Given the description of an element on the screen output the (x, y) to click on. 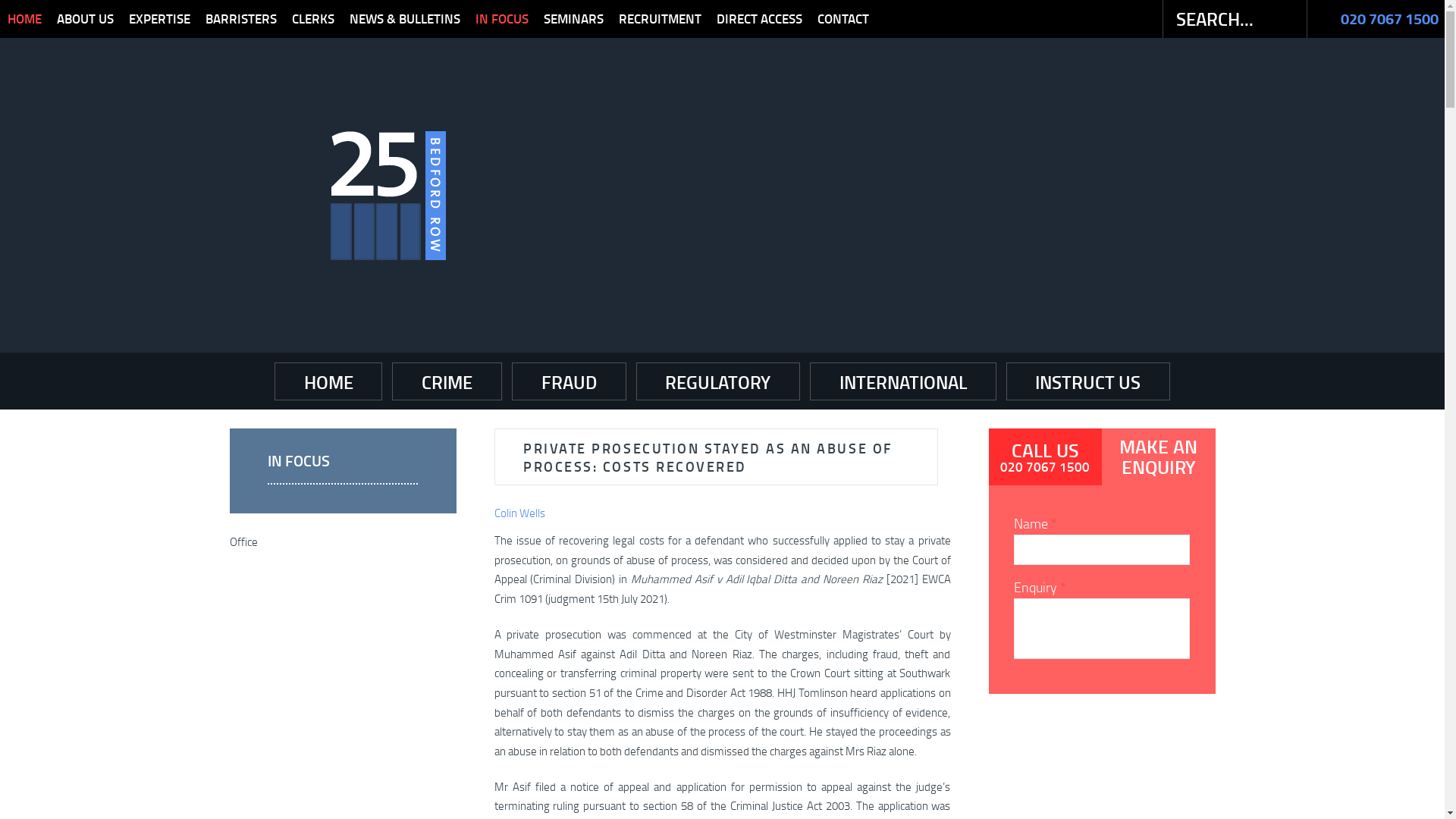
FRAUD Element type: text (568, 381)
ABOUT US Element type: text (85, 18)
MAKE AN ENQUIRY Element type: text (1158, 456)
DIRECT ACCESS Element type: text (759, 18)
REGULATORY Element type: text (717, 381)
Colin Wells Element type: text (519, 512)
EXPERTISE Element type: text (159, 18)
CONTACT Element type: text (839, 18)
CLERKS Element type: text (313, 18)
SEMINARS Element type: text (573, 18)
IN FOCUS Element type: text (342, 465)
NEWS & BULLETINS Element type: text (404, 18)
INSTRUCT US Element type: text (1088, 381)
HOME Element type: text (328, 381)
HOME Element type: text (24, 18)
RECRUITMENT Element type: text (660, 18)
BARRISTERS Element type: text (240, 18)
INTERNATIONAL Element type: text (902, 381)
CRIME Element type: text (447, 381)
IN FOCUS Element type: text (501, 18)
